Given the description of an element on the screen output the (x, y) to click on. 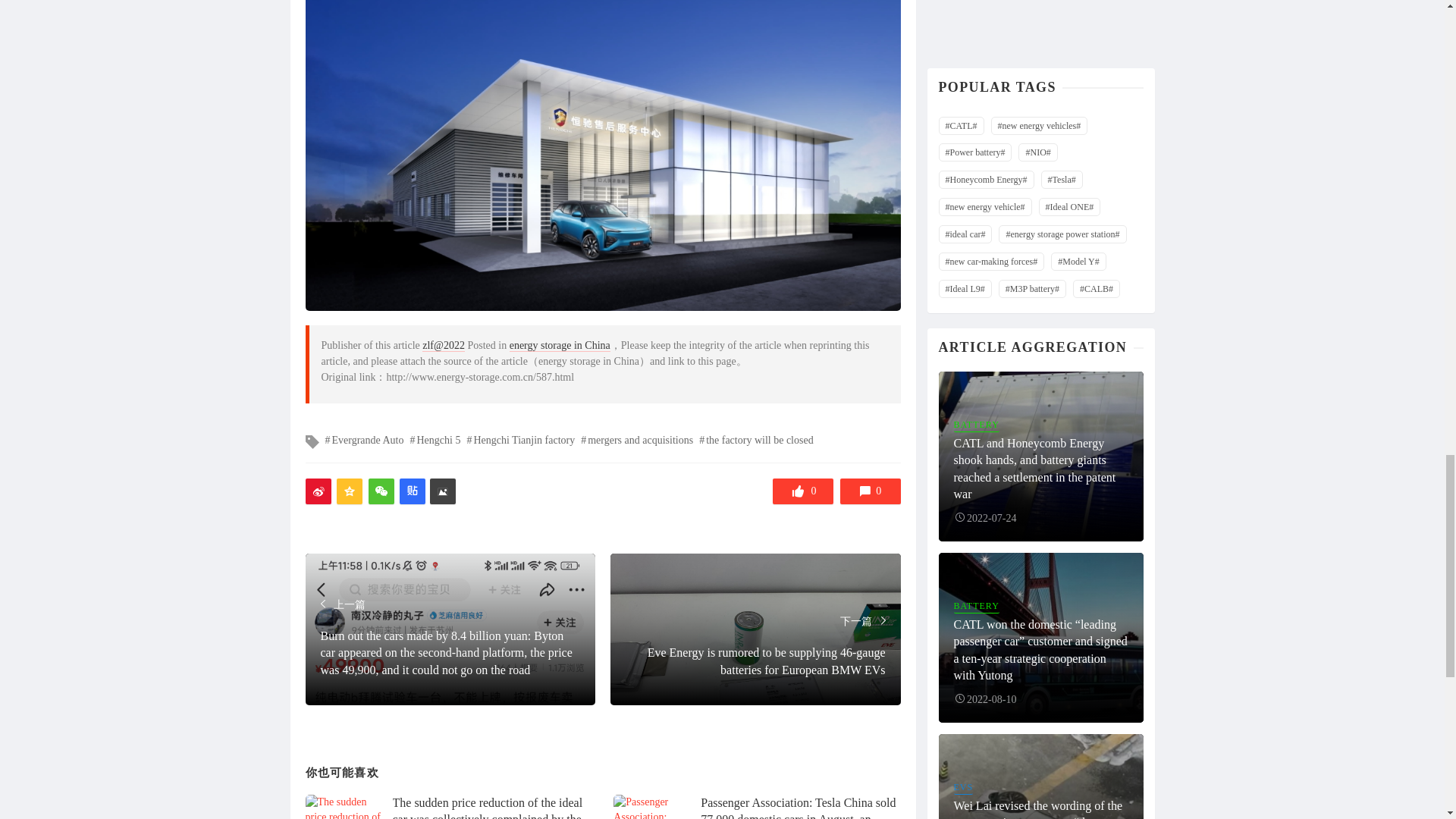
Hengchi 5 (434, 439)
0 (802, 491)
mergers and acquisitions (636, 439)
energy storage in China (559, 345)
Hengchi Tianjin factory (520, 439)
Evergrande Auto (363, 439)
the factory will be closed (755, 439)
0 (870, 491)
